Given the description of an element on the screen output the (x, y) to click on. 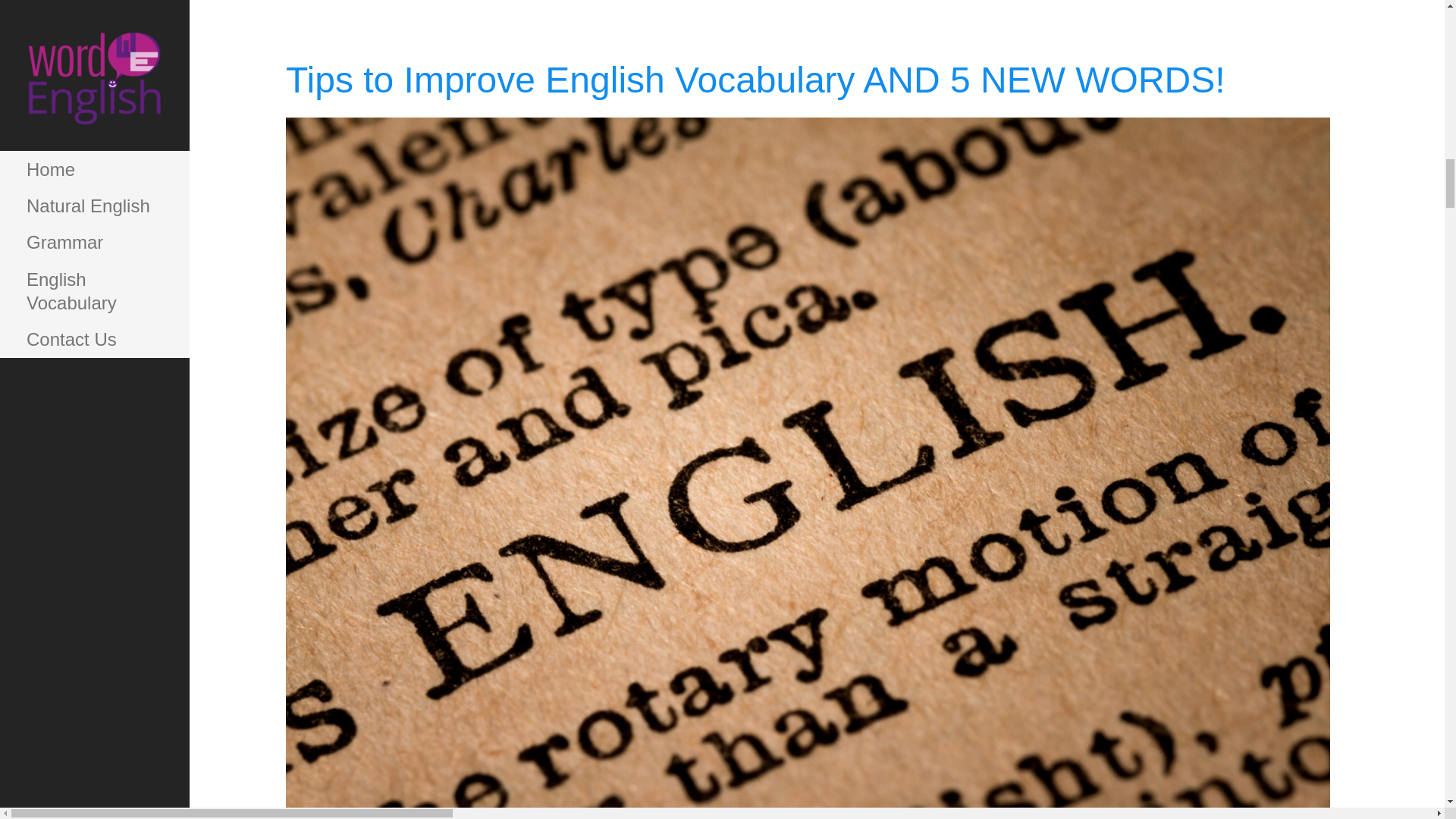
Tips to Improve English Vocabulary AND 5 NEW WORDS! (807, 803)
Tips to Improve English Vocabulary AND 5 NEW WORDS! (755, 79)
